Given the description of an element on the screen output the (x, y) to click on. 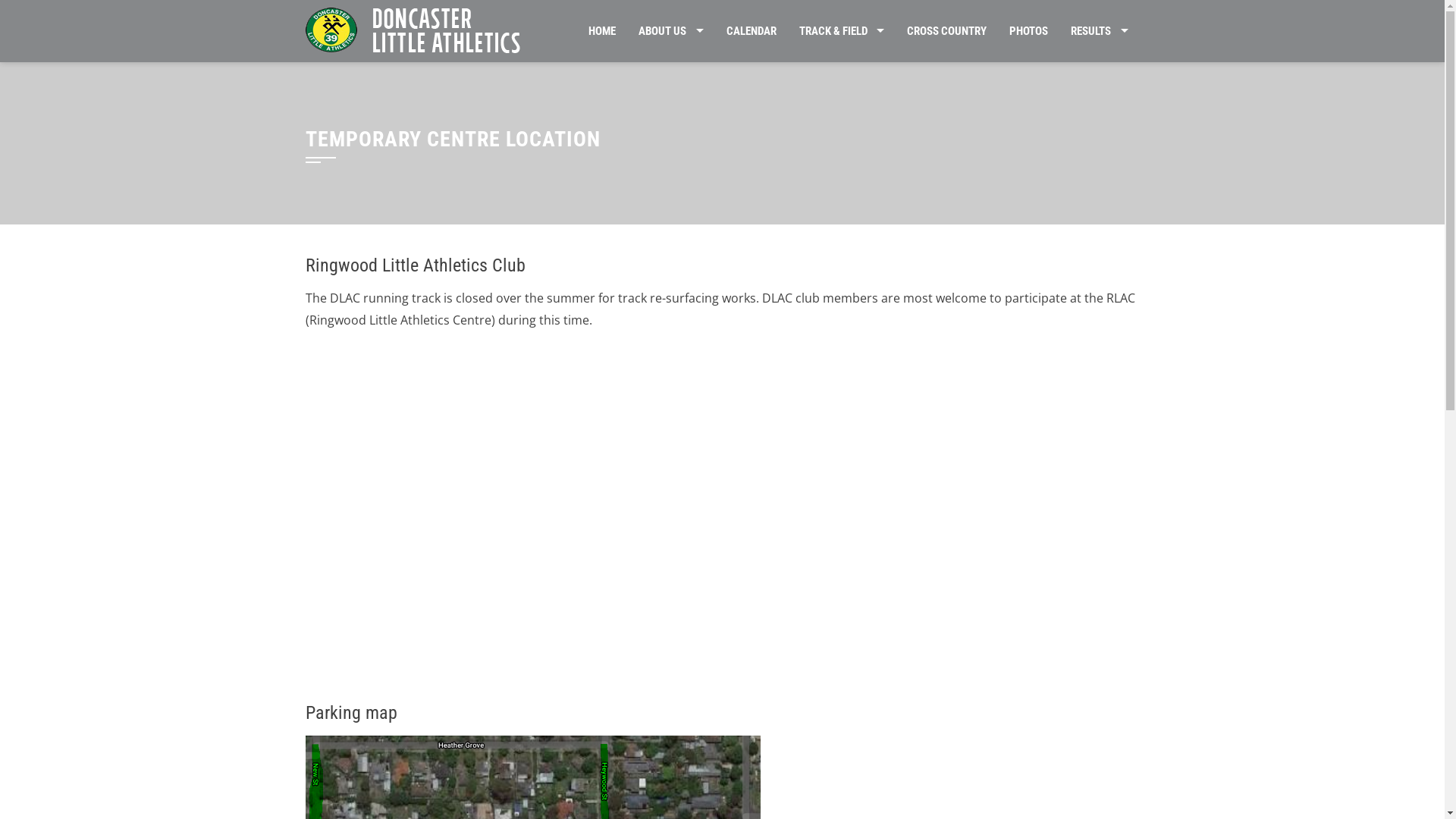
ABOUT US Element type: text (671, 31)
RESULTS Element type: text (1099, 31)
TRACK & FIELD Element type: text (841, 31)
HOME Element type: text (602, 31)
CROSS COUNTRY Element type: text (946, 31)
CALENDAR Element type: text (750, 31)
PHOTOS Element type: text (1028, 31)
